Given the description of an element on the screen output the (x, y) to click on. 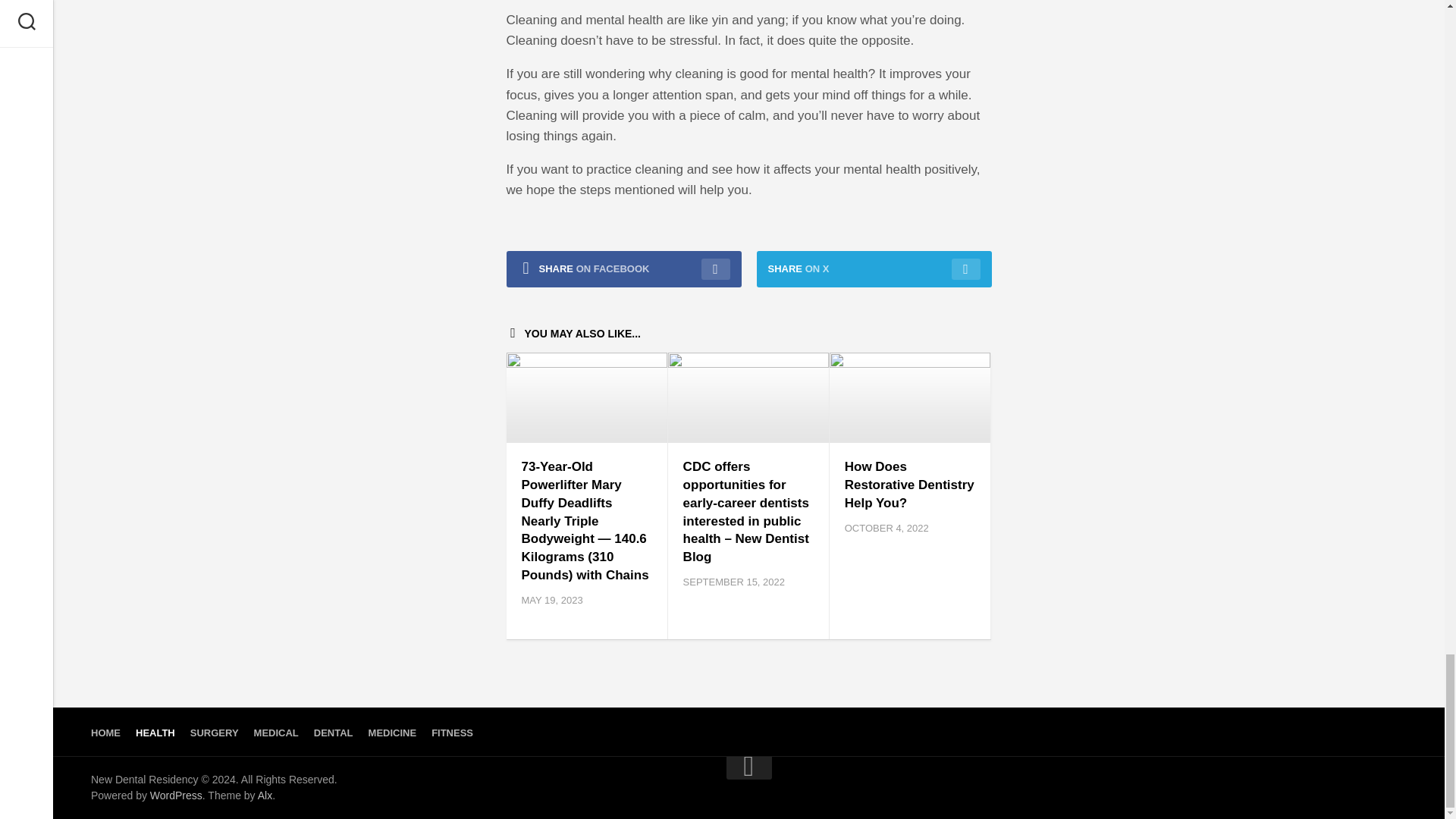
MEDICAL (275, 733)
How Does Restorative Dentistry Help You? (909, 484)
SHARE ON X (874, 268)
SHARE ON FACEBOOK (623, 268)
SURGERY (214, 733)
HEALTH (154, 733)
DENTAL (333, 733)
HOME (105, 733)
